Given the description of an element on the screen output the (x, y) to click on. 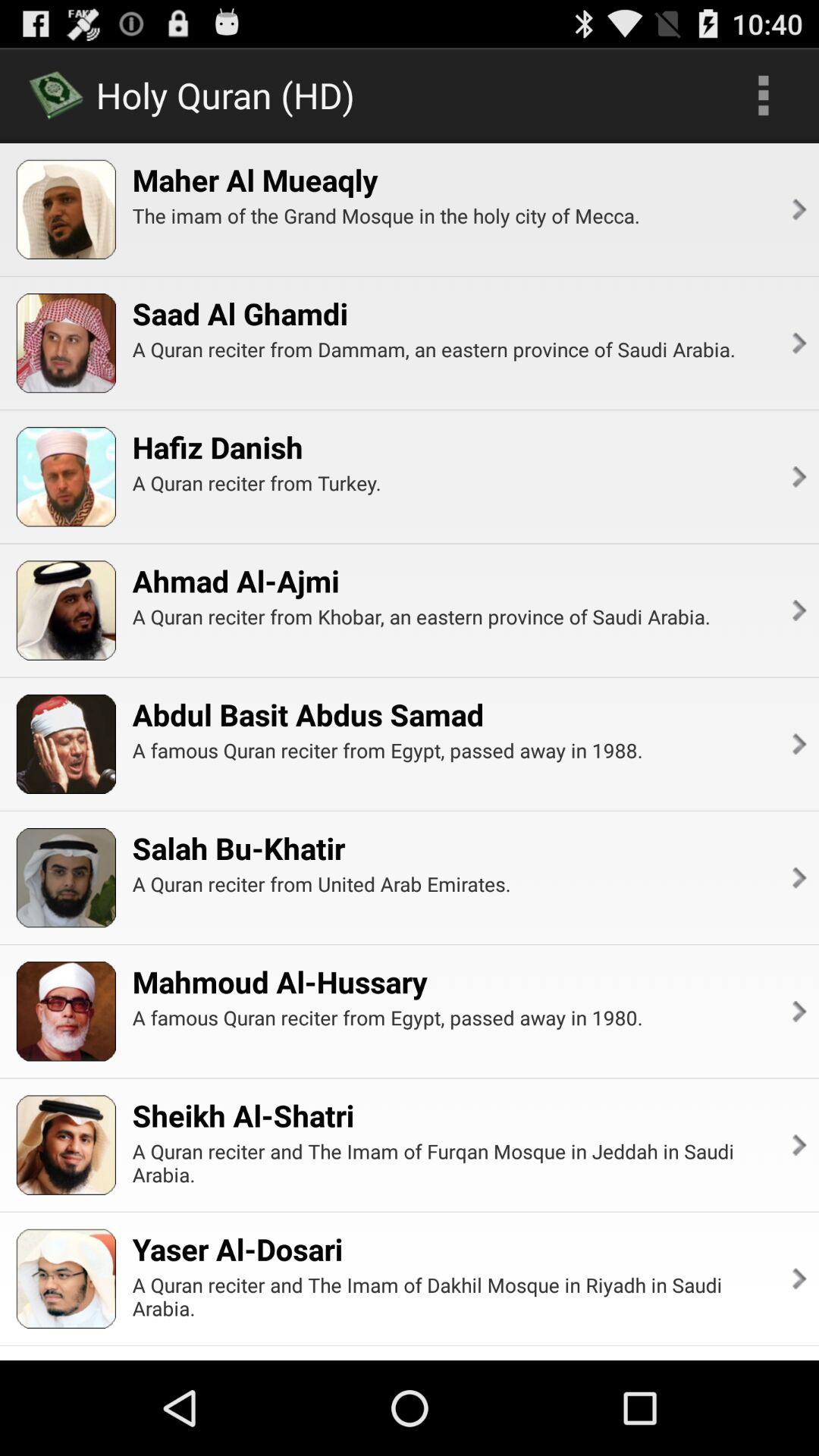
turn on icon below the the imam of item (240, 313)
